Given the description of an element on the screen output the (x, y) to click on. 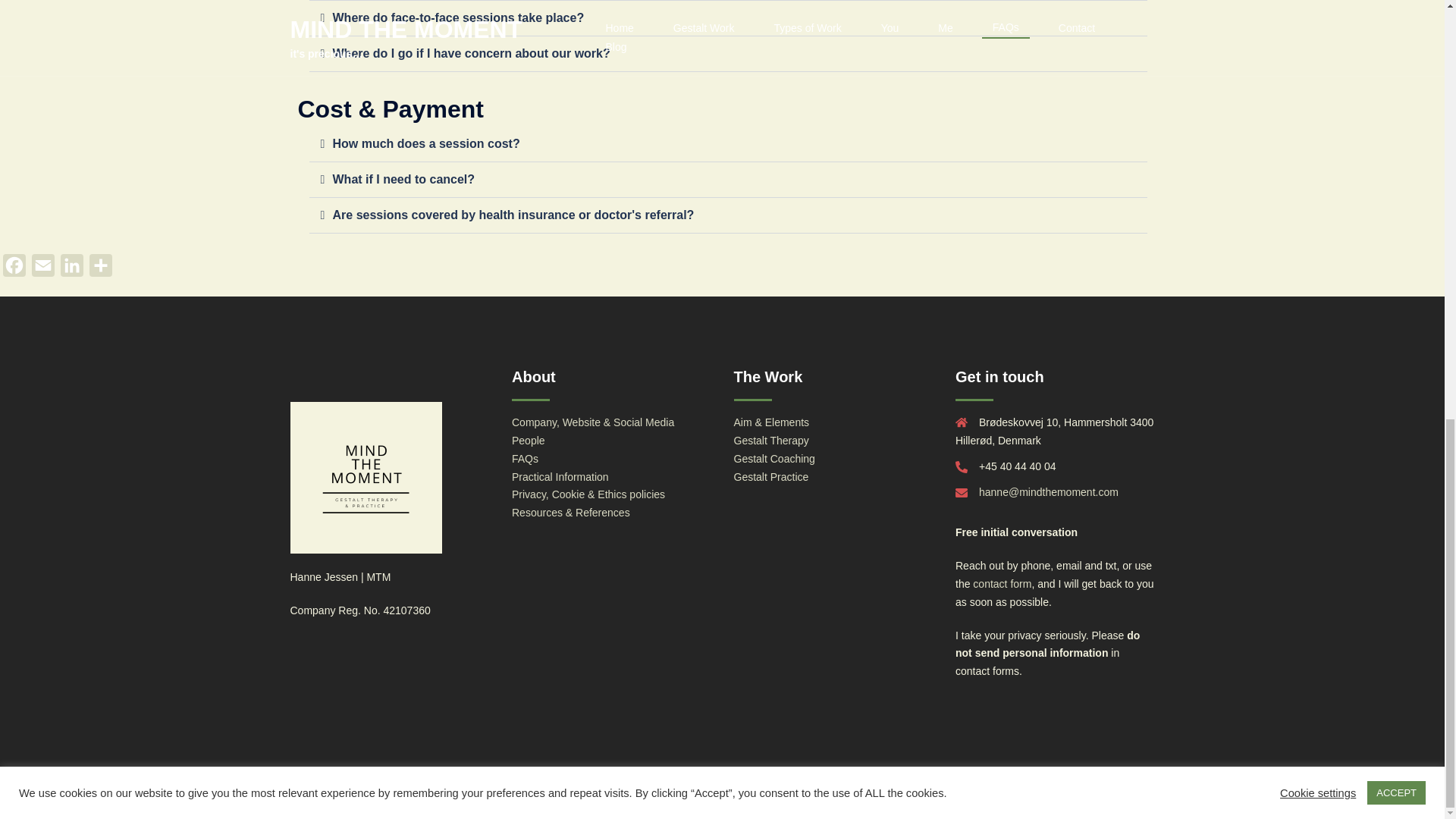
LinkedIn (71, 268)
Facebook (14, 268)
Email (43, 268)
What if I need to cancel? (402, 178)
Where do face-to-face sessions take place? (457, 17)
How much does a session cost? (425, 143)
Facebook (14, 268)
Where do I go if I have concern about our work? (470, 52)
